Given the description of an element on the screen output the (x, y) to click on. 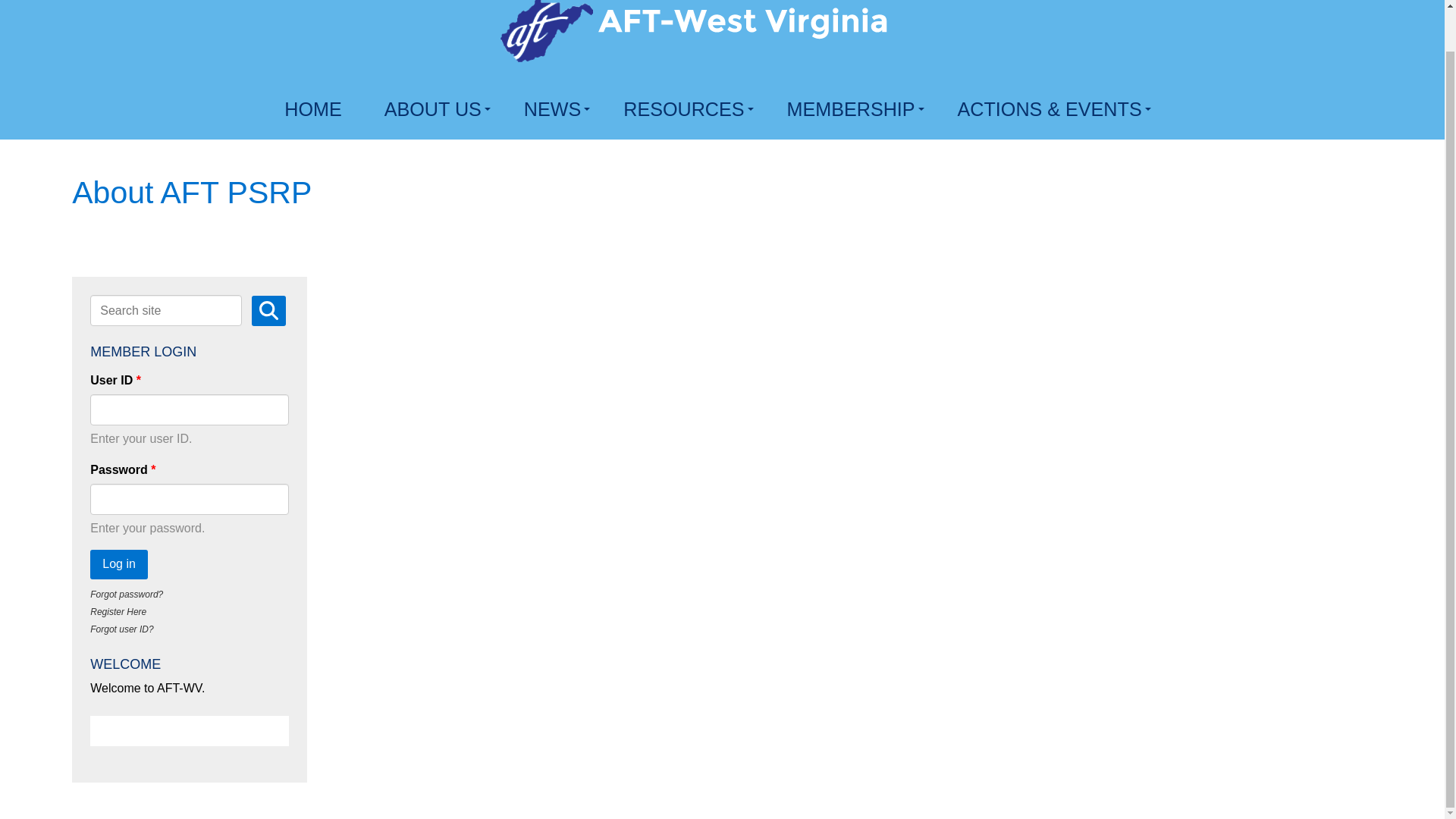
Forgot password? (126, 593)
Search (268, 310)
Search (268, 310)
HOME (315, 109)
Forgot Your User ID. (121, 629)
Register Here (118, 611)
Log in (119, 563)
